Given the description of an element on the screen output the (x, y) to click on. 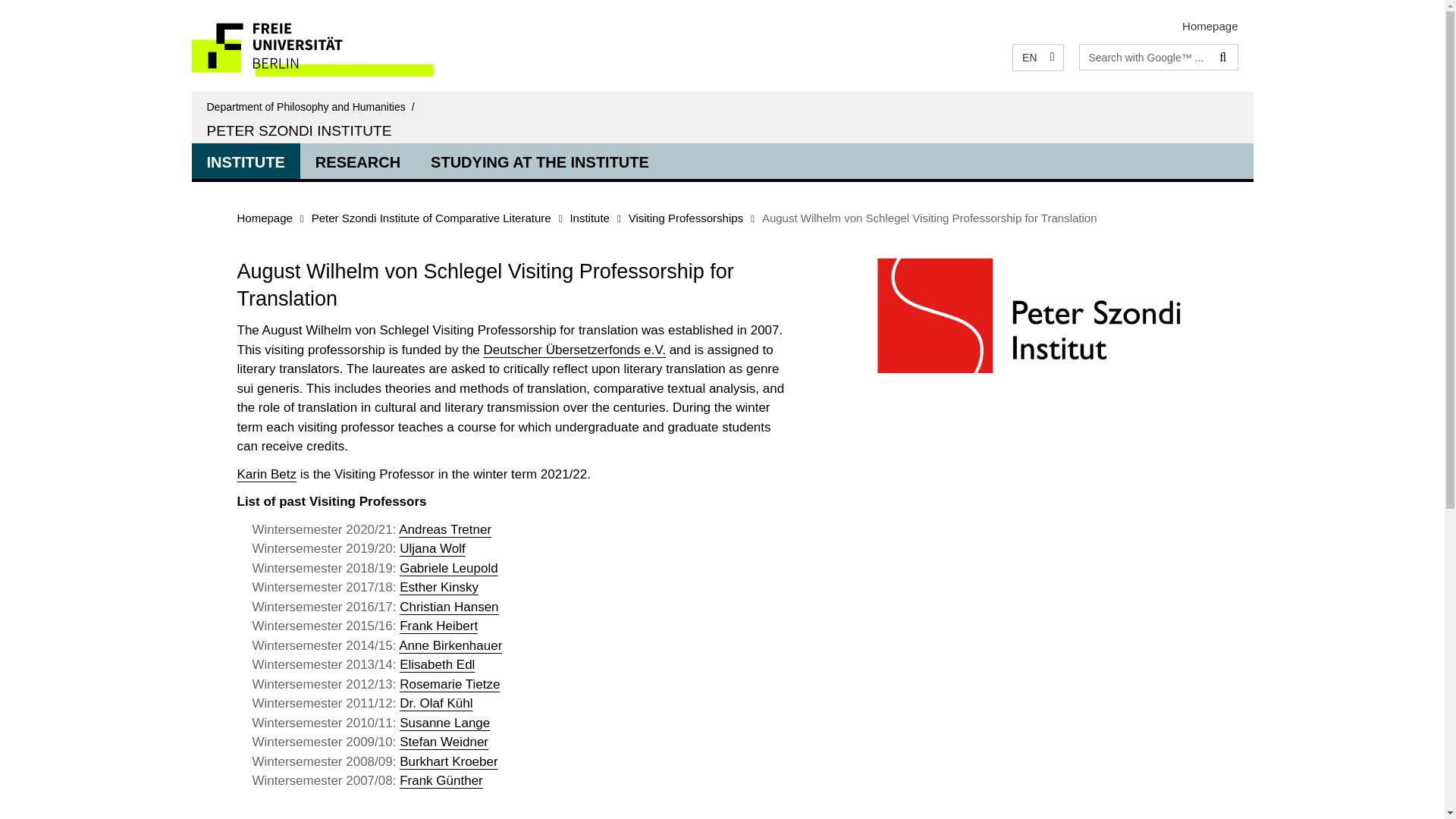
Gabriele Leupold (447, 568)
To the Homepage of:  Peter Szondi Institute (298, 130)
Andreas Tretner (445, 528)
RESEARCH (356, 160)
Esther Kinsky (438, 586)
Elisabeth Edl (436, 664)
Uljana Wolf (431, 548)
PETER SZONDI INSTITUTE (298, 130)
Please enter search term here (1144, 56)
To the Homepage of:  (313, 106)
Karin Betz (265, 473)
Peter Szondi Institute of Comparative Literature (431, 216)
Visiting Professorships (685, 216)
STUDYING AT THE INSTITUTE (538, 160)
Homepage (1209, 25)
